Given the description of an element on the screen output the (x, y) to click on. 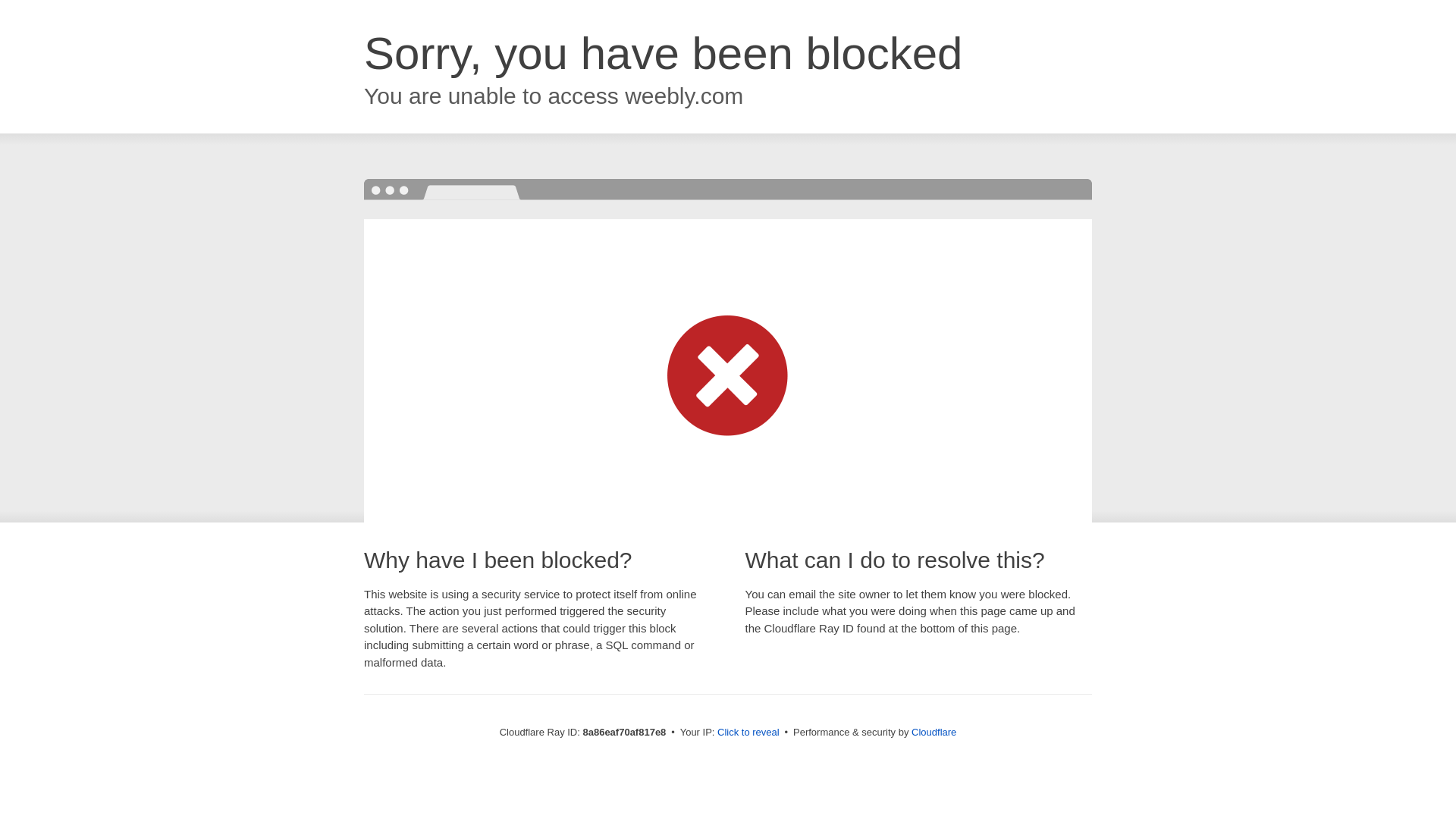
Click to reveal (747, 732)
Cloudflare (933, 731)
